Given the description of an element on the screen output the (x, y) to click on. 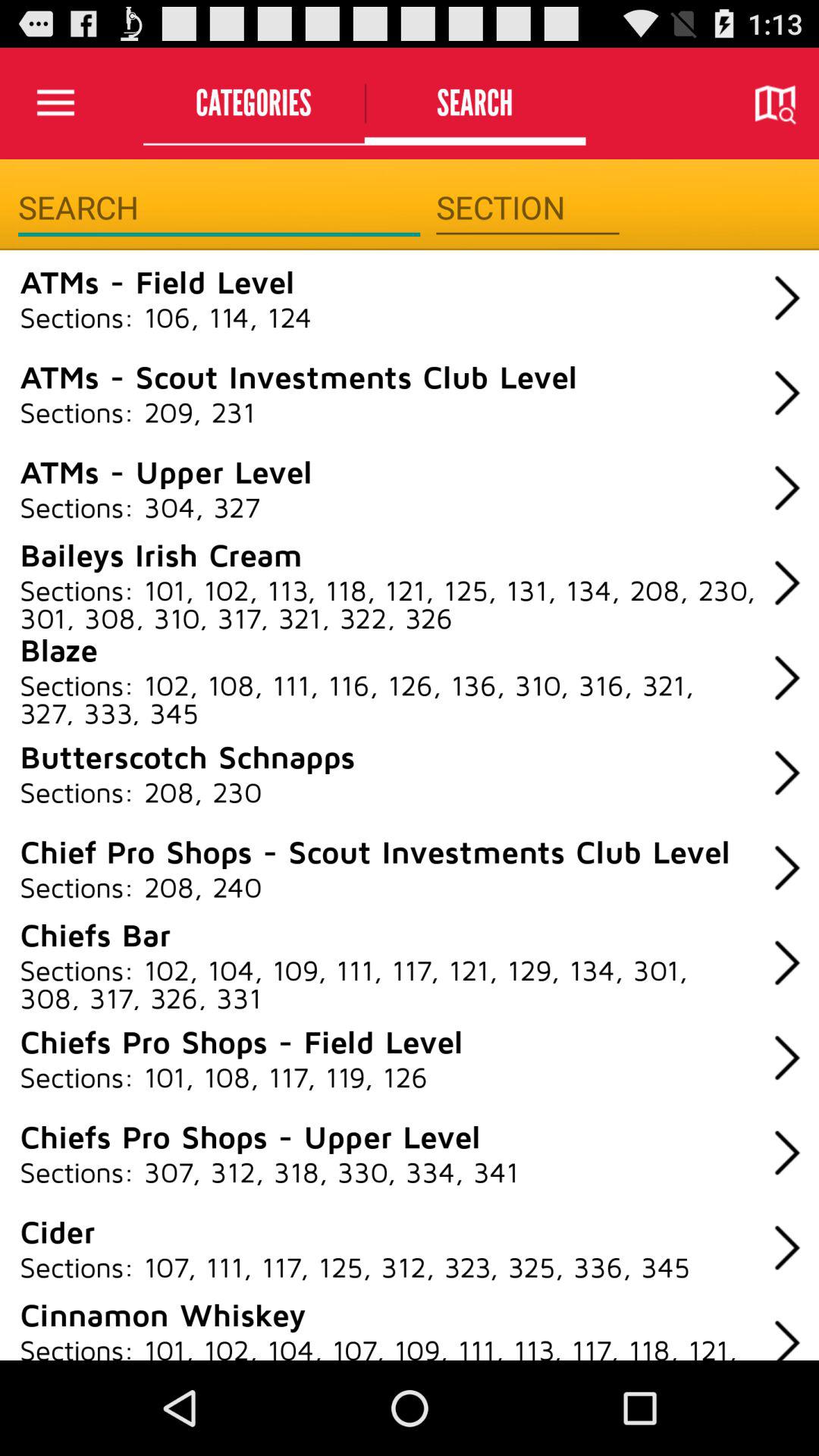
click the baileys irish cream icon (160, 554)
